Given the description of an element on the screen output the (x, y) to click on. 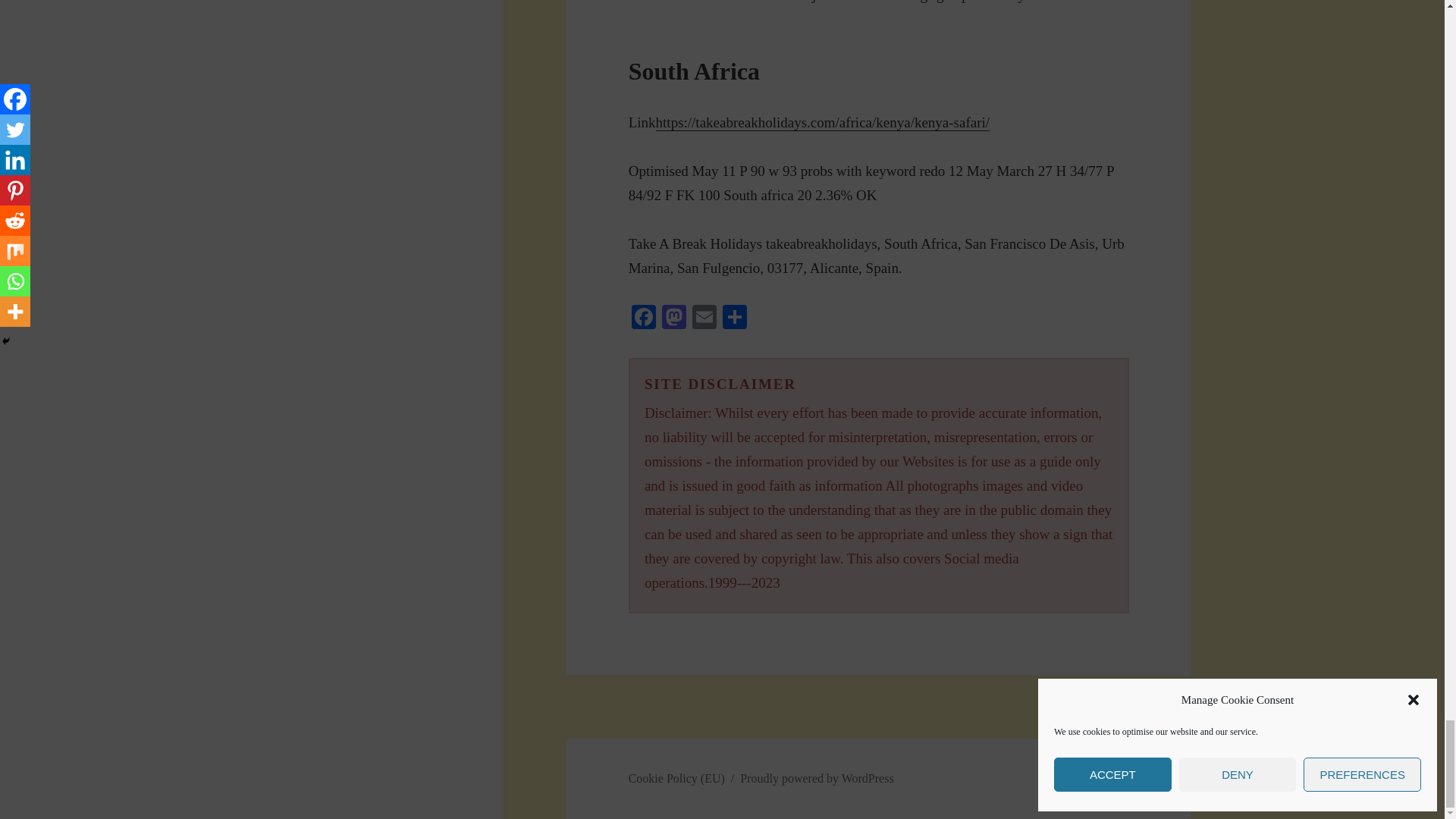
Facebook (643, 318)
Mastodon (673, 318)
Email (703, 318)
